Given the description of an element on the screen output the (x, y) to click on. 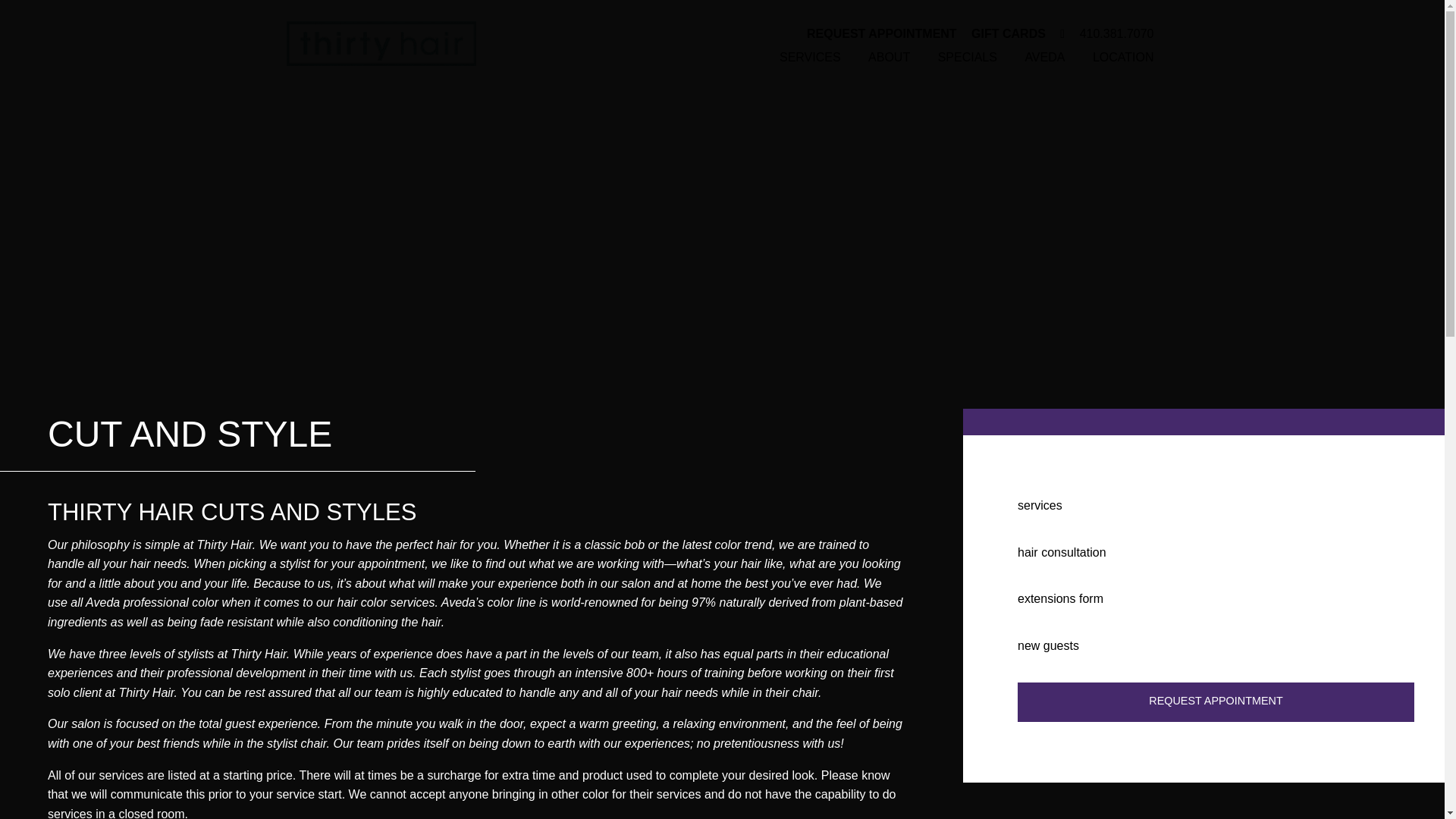
ABOUT (888, 57)
REQUEST APPOINTMENT (875, 33)
GIFT CARDS (1002, 33)
SERVICES (810, 57)
SPECIALS (967, 57)
410.381.7070 (1111, 33)
